Given the description of an element on the screen output the (x, y) to click on. 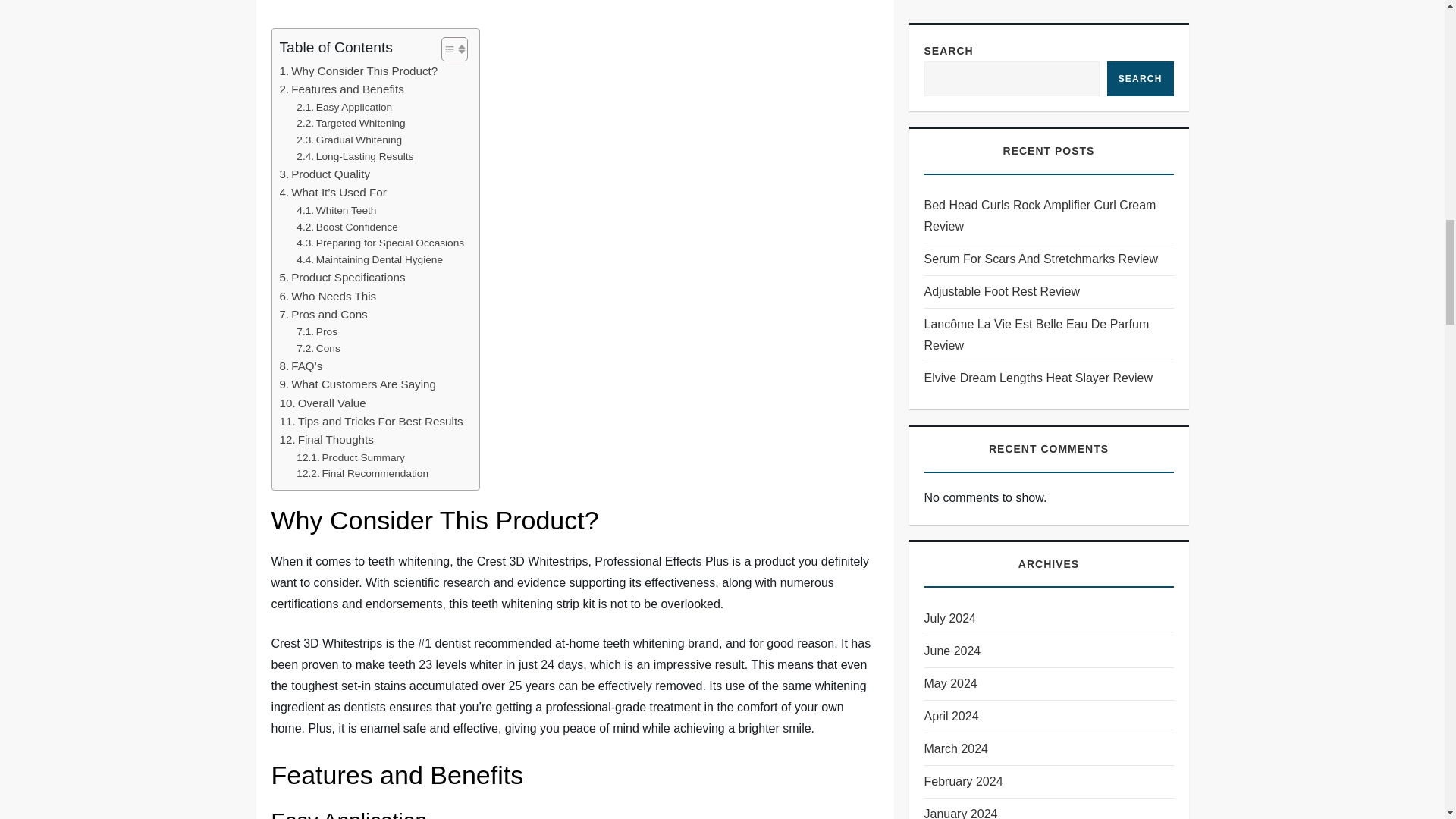
Cons (318, 348)
Gradual Whitening (349, 139)
Product Quality (324, 174)
Boost Confidence (347, 227)
Targeted Whitening (350, 123)
Long-Lasting Results (355, 156)
Who Needs This (327, 296)
Pros (317, 331)
Whiten Teeth (336, 210)
Targeted Whitening (350, 123)
